Given the description of an element on the screen output the (x, y) to click on. 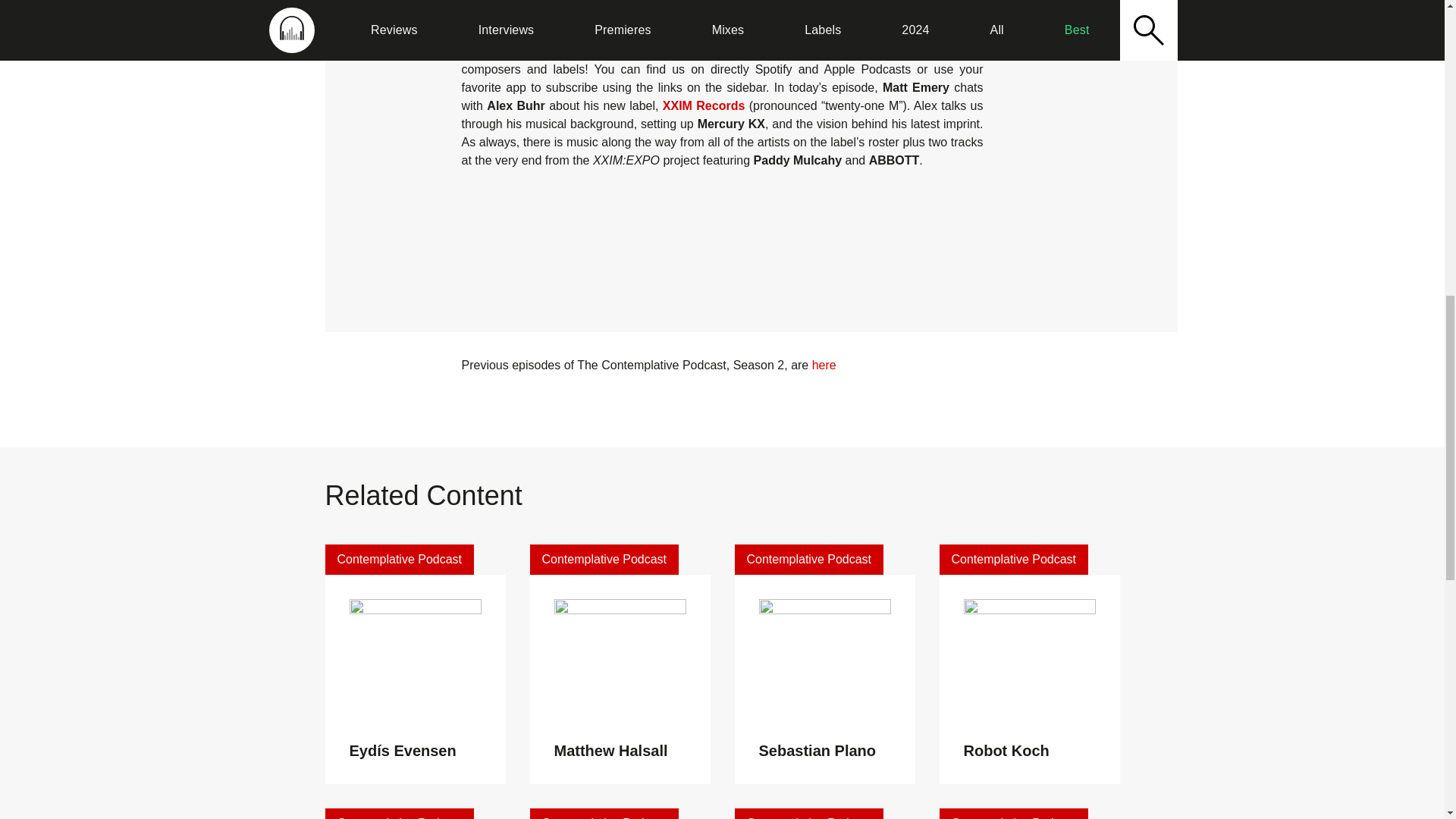
XXIM Records (703, 105)
Podcast (904, 12)
Spotify (808, 12)
Contemplative Podcast (603, 813)
Download (759, 12)
XXIM Records (721, 250)
here (823, 364)
Contemplative Podcast (399, 559)
Contemplative Podcast (808, 559)
Contemplative Podcast (1013, 559)
Apple (856, 12)
Sebastian Plano (817, 750)
Contemplative Podcast (603, 559)
Robot Koch (1005, 750)
Matthew Halsall (609, 750)
